Given the description of an element on the screen output the (x, y) to click on. 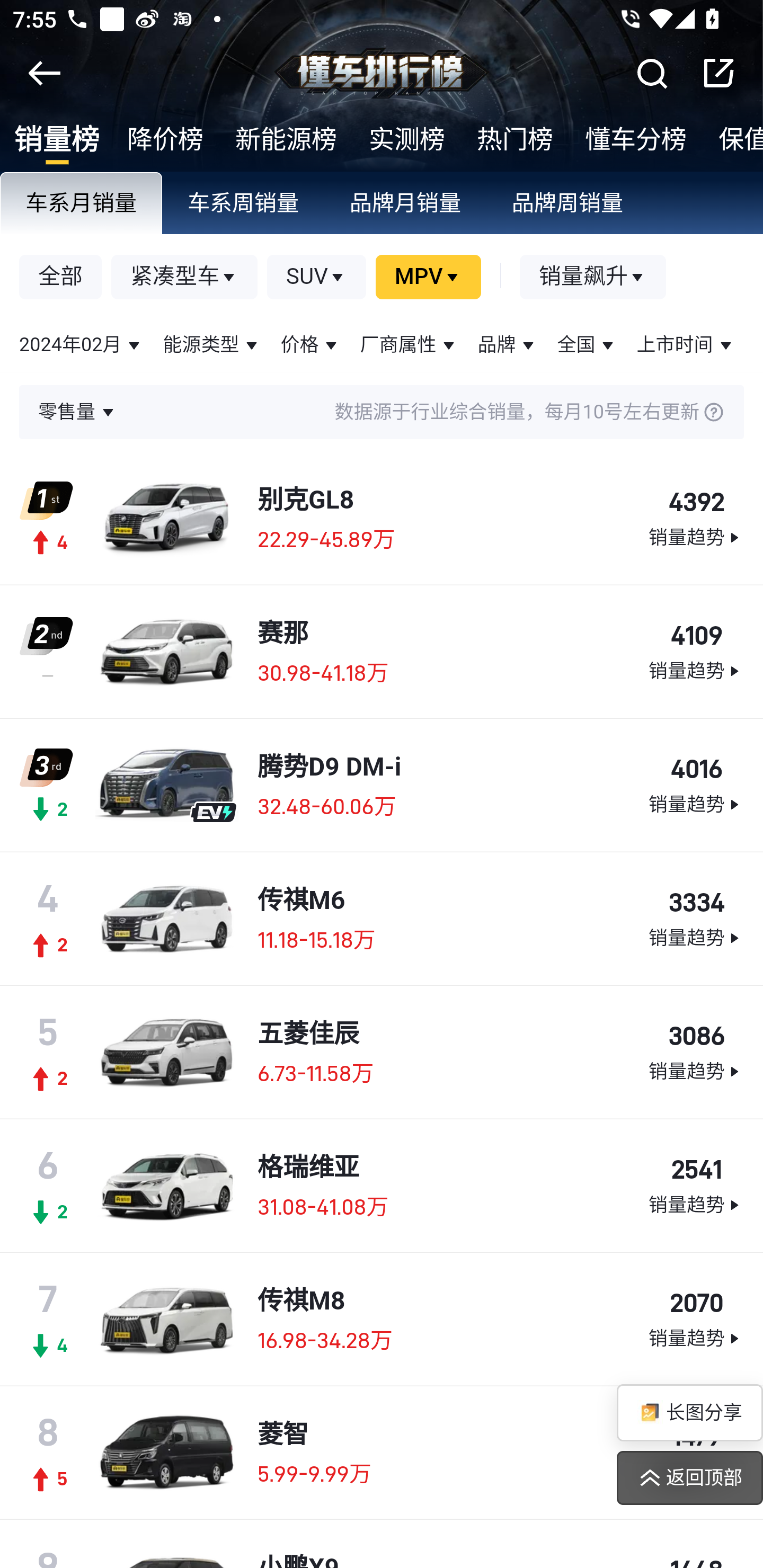
车系月销量 (81, 204)
车系周销量 (243, 204)
品牌月销量 (405, 204)
品牌周销量 (567, 204)
全部 (61, 277)
紧凑型车 (185, 277)
SUV (317, 277)
MPV (428, 277)
销量飙升 (593, 277)
2024年02月 (81, 345)
能源类型 (211, 345)
价格 (310, 345)
厂商属性 (409, 345)
品牌 (507, 345)
全国 (587, 345)
上市时间 (685, 345)
零售量 (78, 412)
数据源于行业综合销量，每月10号左右更新 (420, 411)
4 别克GL8 22.29-45.89万 4392 销量趋势 (381, 518)
4392 销量趋势 (695, 519)
赛那 30.98-41.18万 4109 销量趋势 (381, 651)
4109 销量趋势 (695, 652)
4016 销量趋势 (695, 786)
4 2 传祺M6 11.18-15.18万 3334 销量趋势 (381, 918)
3334 销量趋势 (695, 919)
5 2 五菱佳辰 6.73-11.58万 3086 销量趋势 (381, 1052)
3086 销量趋势 (695, 1053)
6 2 格瑞维亚 31.08-41.08万 2541 销量趋势 (381, 1186)
2541 销量趋势 (695, 1186)
7 4 传祺M8 16.98-34.28万 2070 销量趋势 (381, 1319)
2070 销量趋势 (695, 1320)
长图分享 (688, 1413)
8 5 菱智 5.99-9.99万 1479 销量趋势 (381, 1453)
返回顶部 (688, 1478)
